Given the description of an element on the screen output the (x, y) to click on. 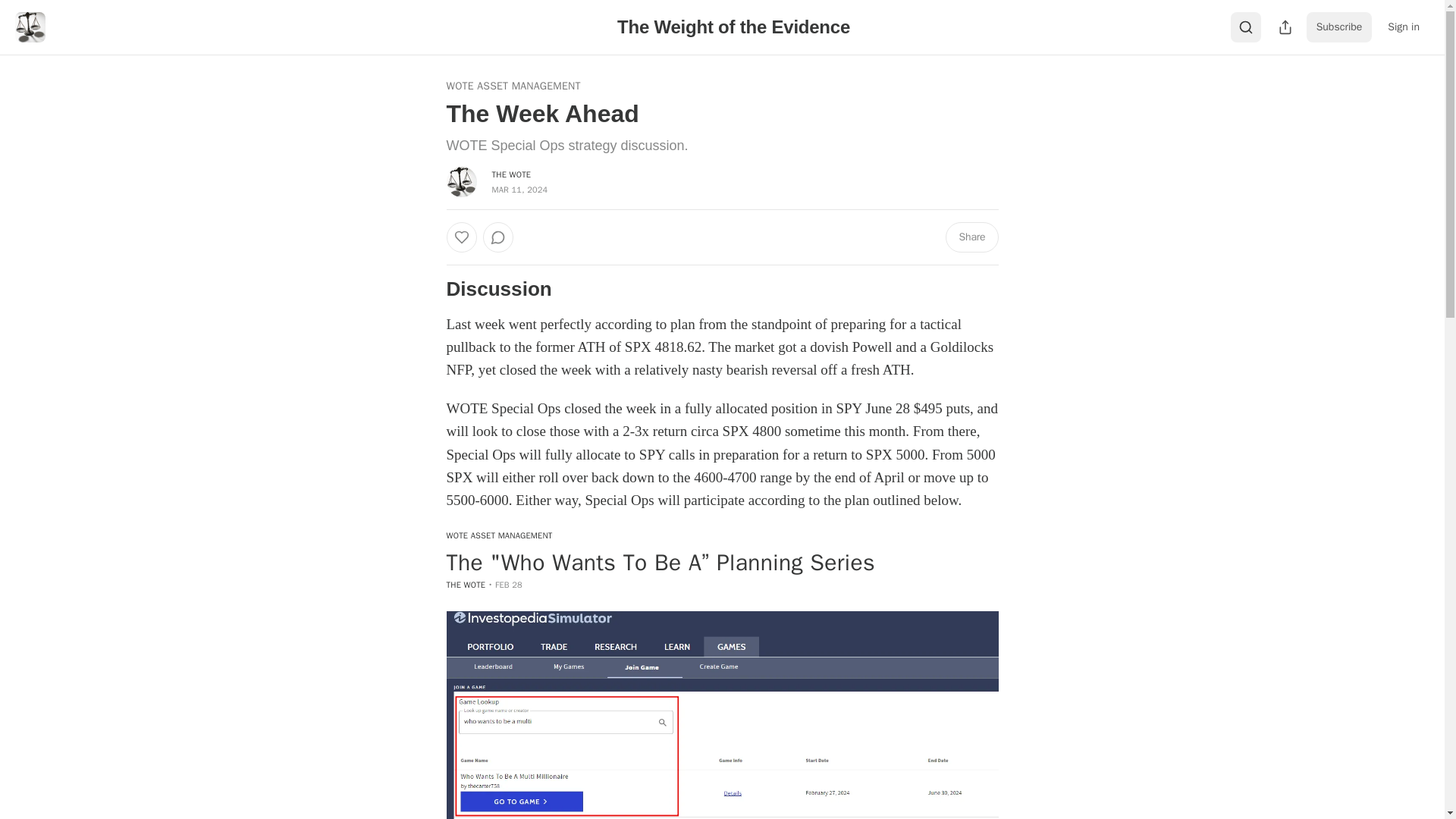
The Weight of the Evidence (733, 26)
Subscribe (1339, 27)
THE WOTE (511, 173)
WOTE ASSET MANAGEMENT (721, 537)
Share (970, 236)
WOTE ASSET MANAGEMENT (512, 86)
Sign in (1403, 27)
THE WOTE (464, 584)
